Given the description of an element on the screen output the (x, y) to click on. 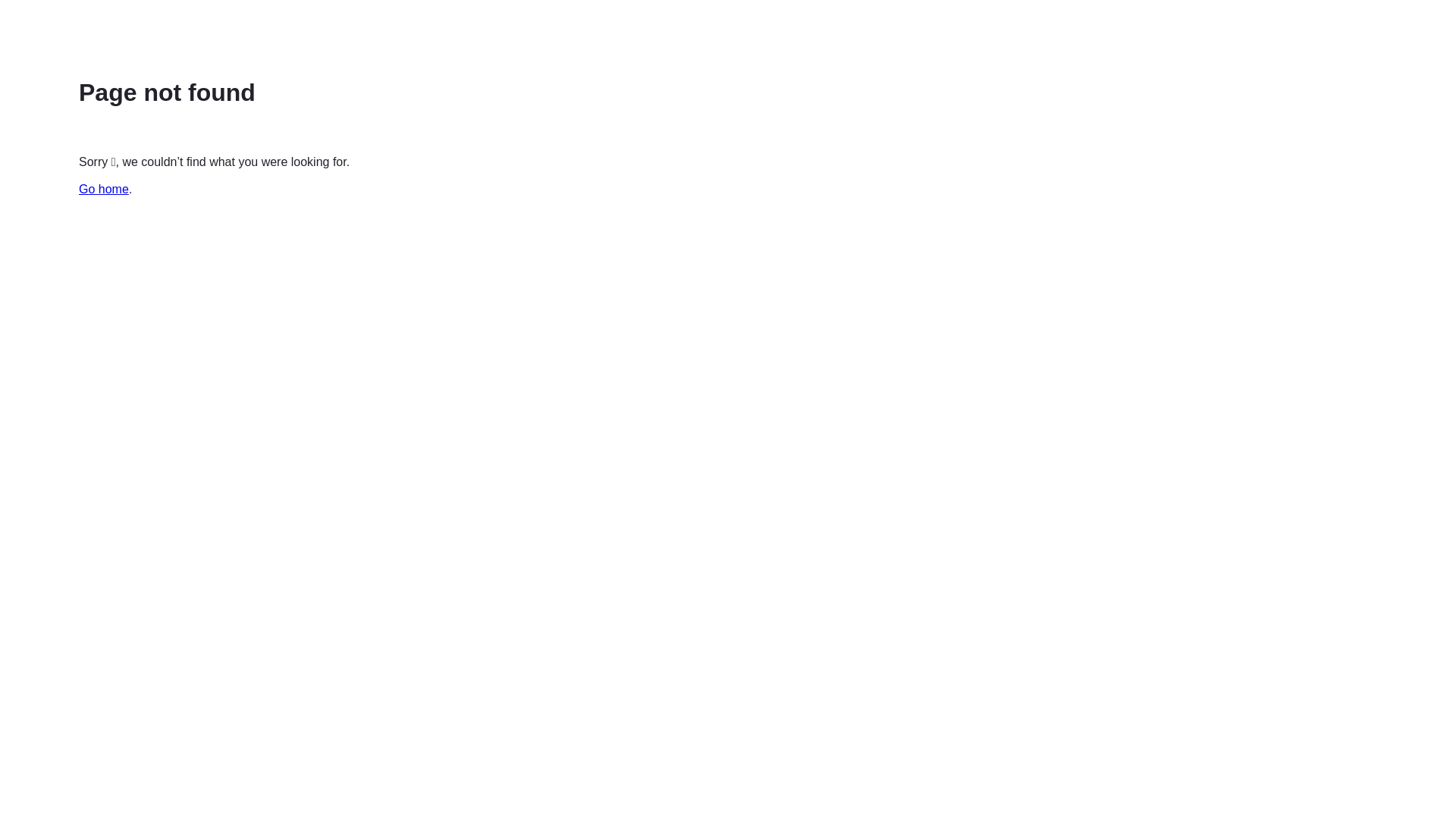
Go home Element type: text (103, 188)
